Given the description of an element on the screen output the (x, y) to click on. 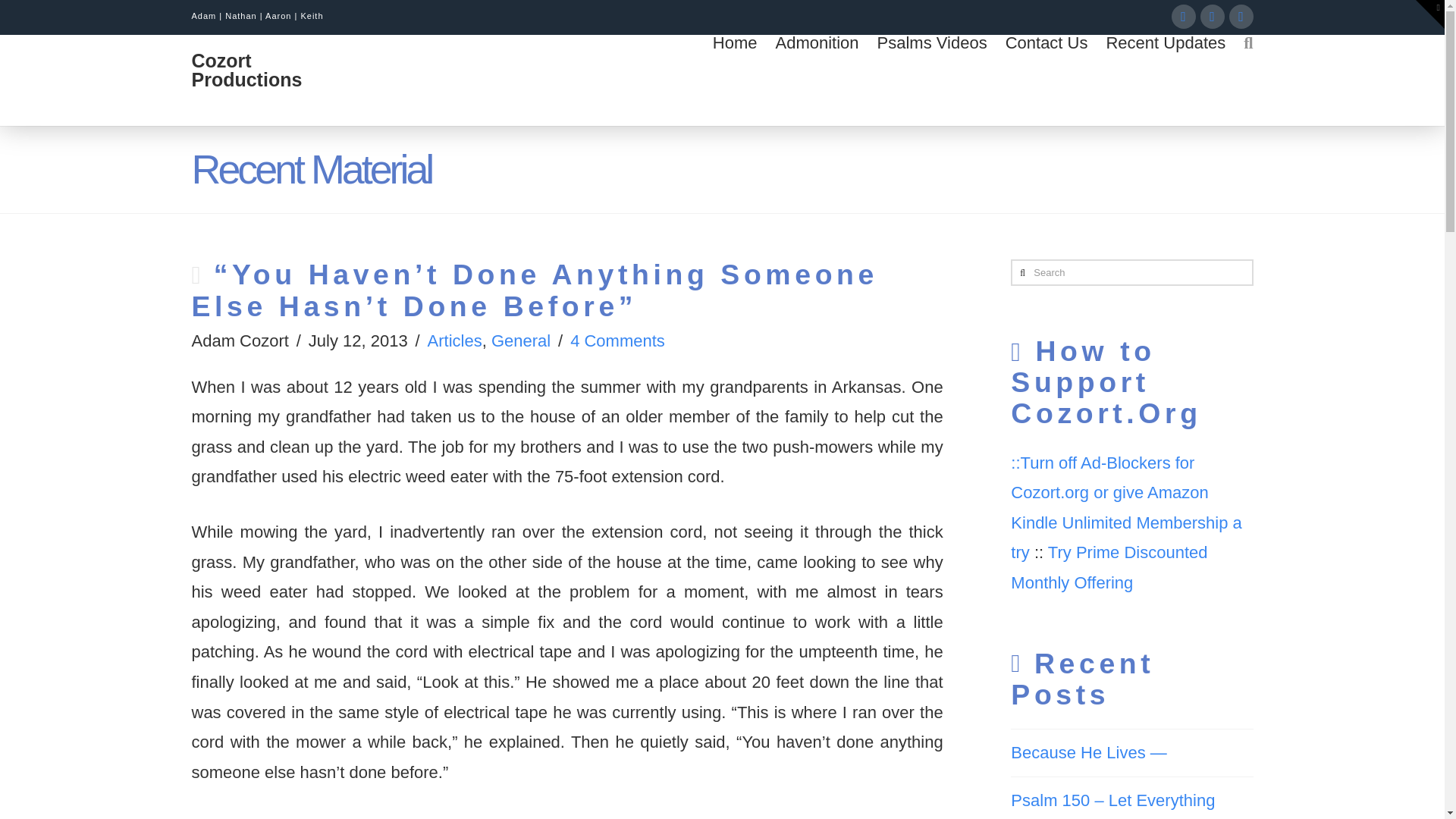
RSS (1240, 16)
Recent Updates (1165, 80)
Contact Us (1046, 80)
Aaron (277, 15)
4 Comments (617, 340)
Nathan (240, 15)
Keith (311, 15)
Adam (202, 15)
YouTube (1211, 16)
Admonition (816, 80)
General (521, 340)
Facebook (1182, 16)
Psalms Videos (931, 80)
Articles (454, 340)
